Given the description of an element on the screen output the (x, y) to click on. 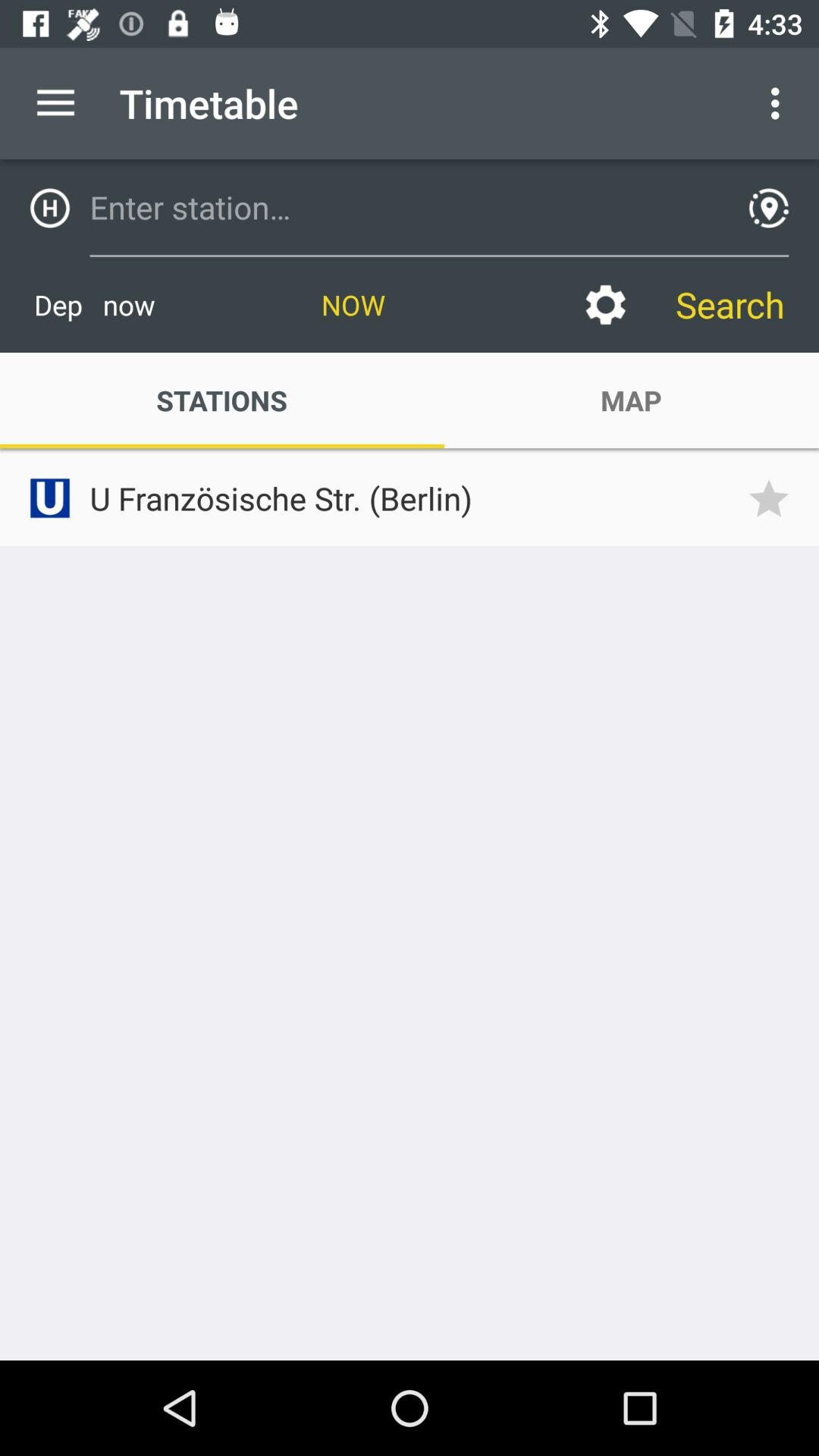
station name input field (403, 206)
